Given the description of an element on the screen output the (x, y) to click on. 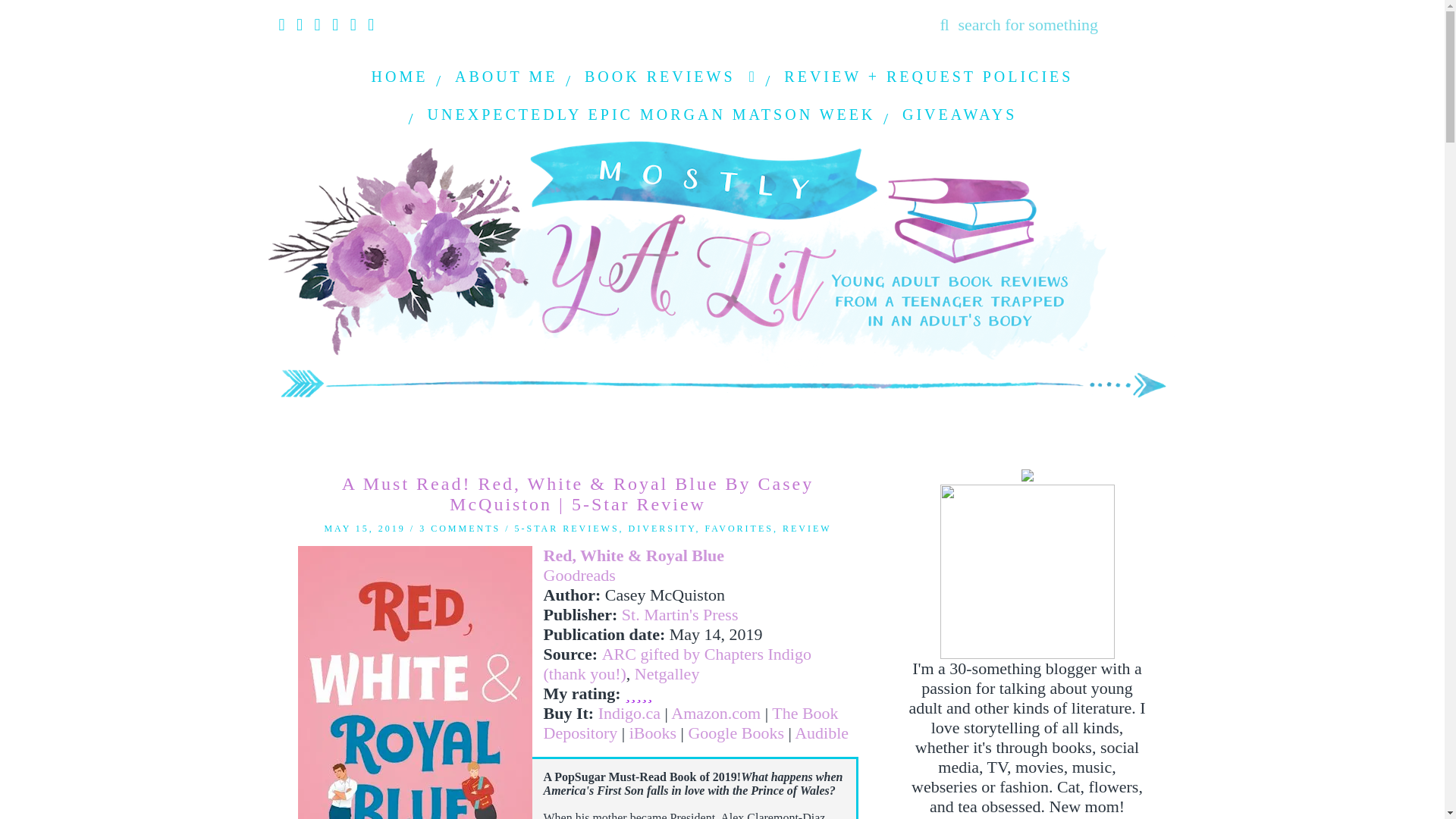
Amazon.com (715, 712)
ABOUT ME (506, 76)
The Book Depository (690, 722)
FAVORITES (738, 528)
Indigo.ca (629, 712)
UNEXPECTEDLY EPIC MORGAN MATSON WEEK (651, 114)
iBooks (652, 732)
GIVEAWAYS (959, 114)
Google Books (735, 732)
Goodreads (578, 574)
